Given the description of an element on the screen output the (x, y) to click on. 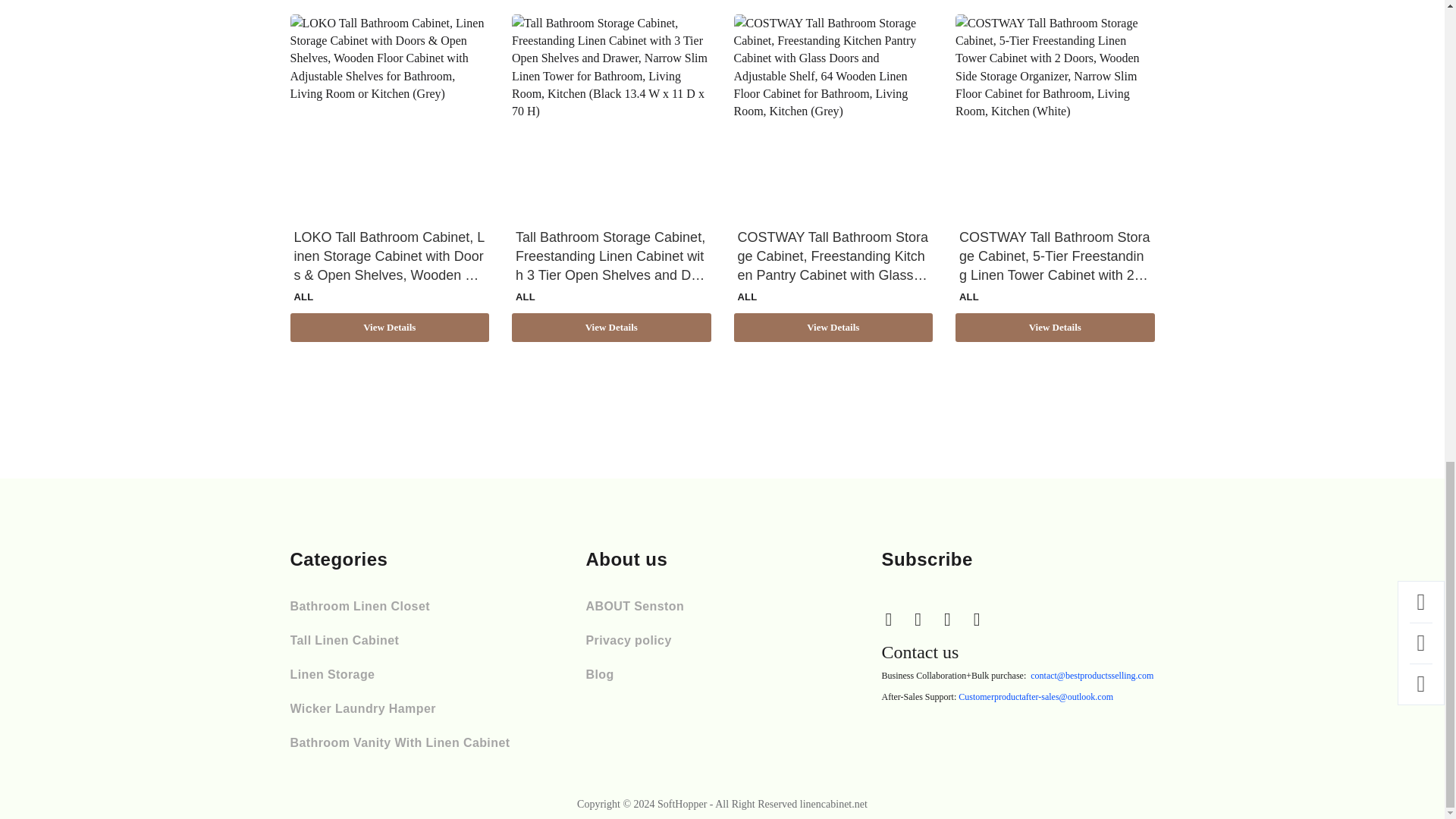
Wicker Laundry Hamper (362, 707)
View Details (611, 327)
Tall Linen Cabinet (343, 640)
View Details (1054, 327)
Linen Storage (331, 674)
View Details (833, 327)
ABOUT Senston (634, 605)
View Details (389, 327)
Bathroom Linen Closet (359, 605)
Bathroom Vanity With Linen Cabinet (399, 742)
